Given the description of an element on the screen output the (x, y) to click on. 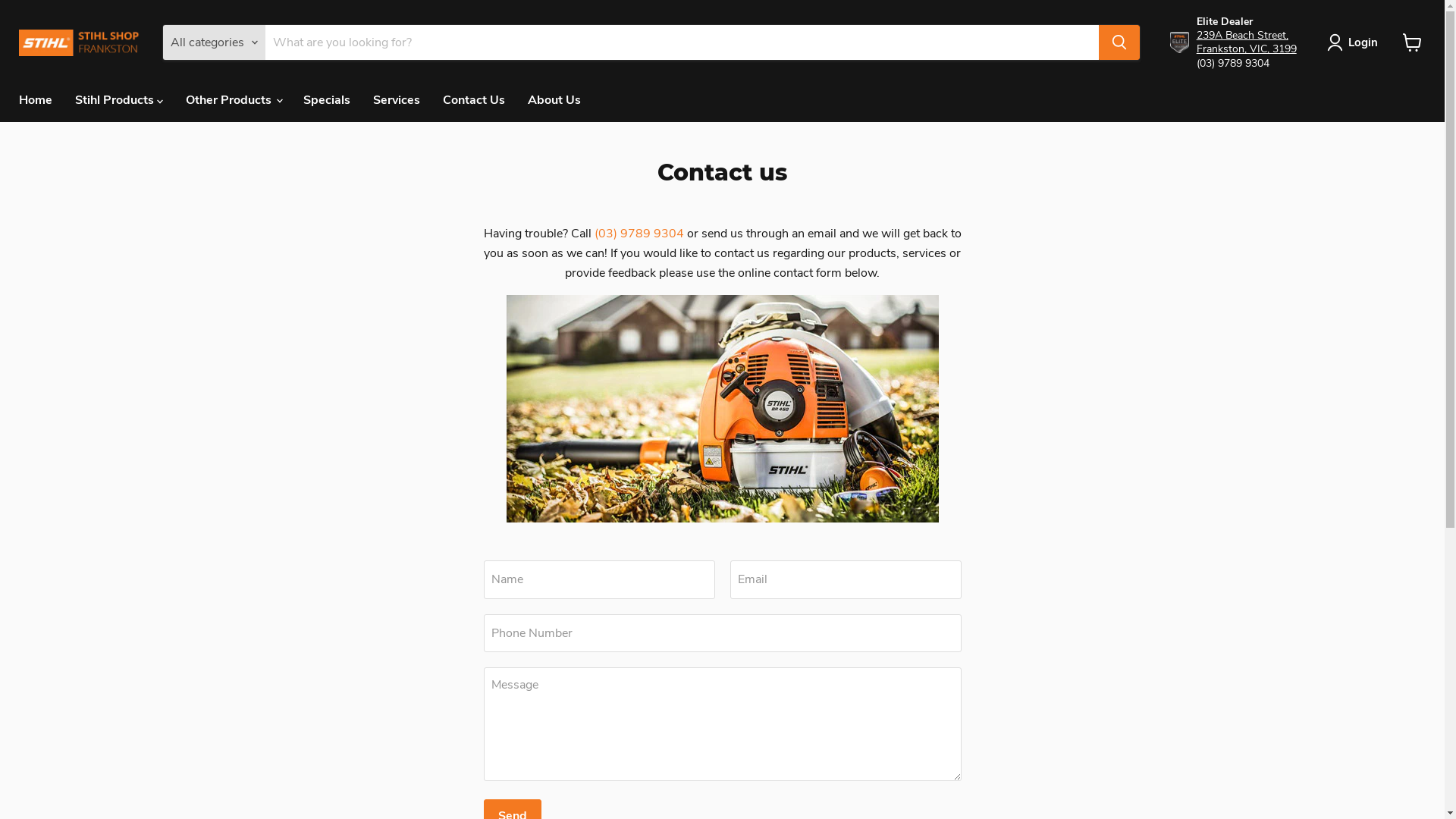
239A Beach Street, Element type: text (1242, 35)
View cart Element type: text (1412, 42)
Stihl Products Element type: text (118, 100)
Home Element type: text (35, 100)
Login Element type: text (1362, 42)
(03) 9789 9304 Element type: text (639, 233)
Frankston, VIC, 3199 Element type: text (1246, 48)
About Us Element type: text (554, 100)
Other Products Element type: text (232, 100)
Specials Element type: text (326, 100)
Contact Us Element type: text (473, 100)
Services Element type: text (396, 100)
